Given the description of an element on the screen output the (x, y) to click on. 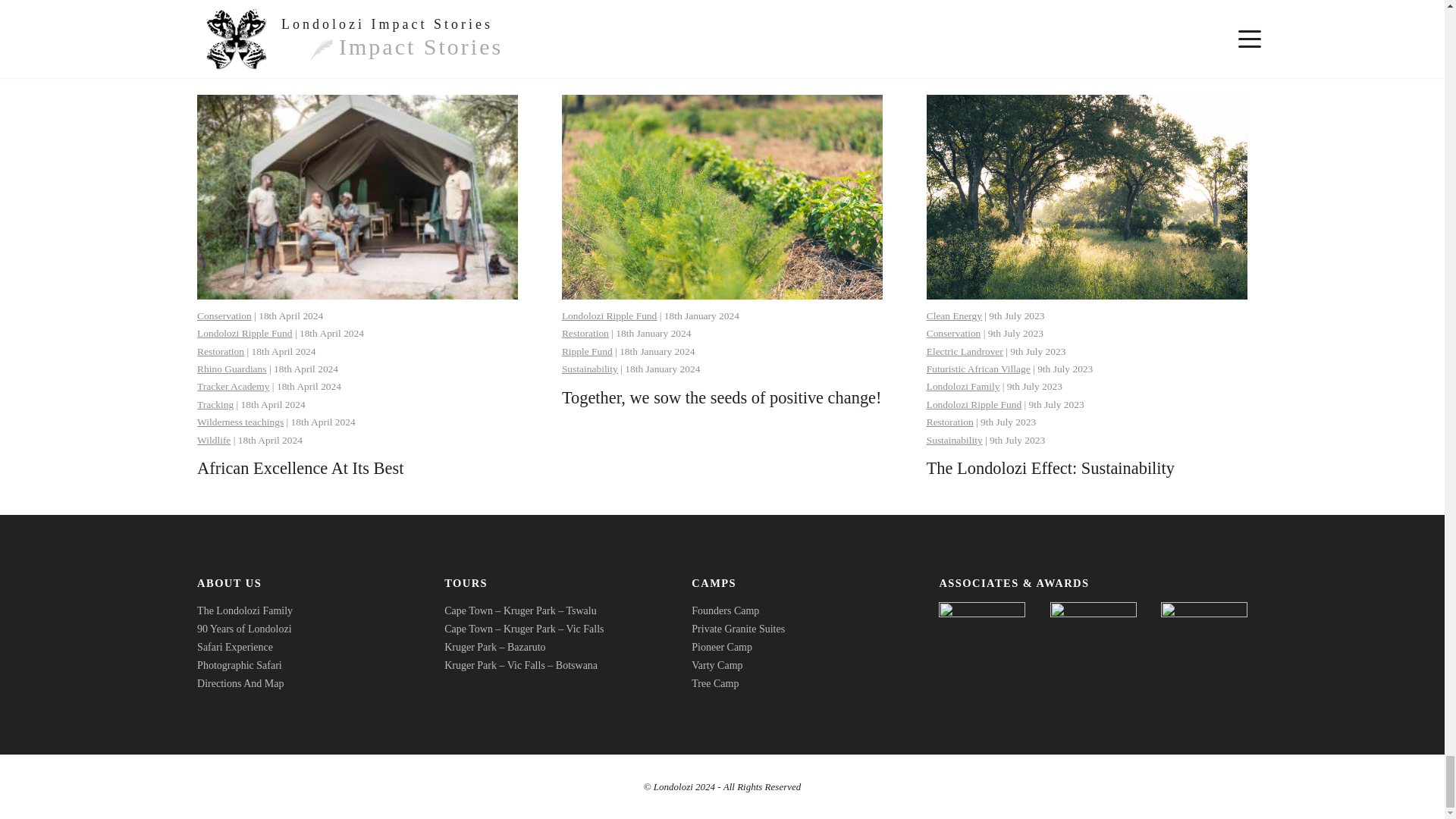
Tracker Academy (232, 386)
Tracking (214, 404)
African Excellence At Its Best (299, 467)
Restoration (220, 350)
Rhino Guardians (231, 368)
Wilderness teachings (239, 421)
Wildlife (213, 439)
Londolozi Ripple Fund (244, 333)
Conservation (223, 315)
